Given the description of an element on the screen output the (x, y) to click on. 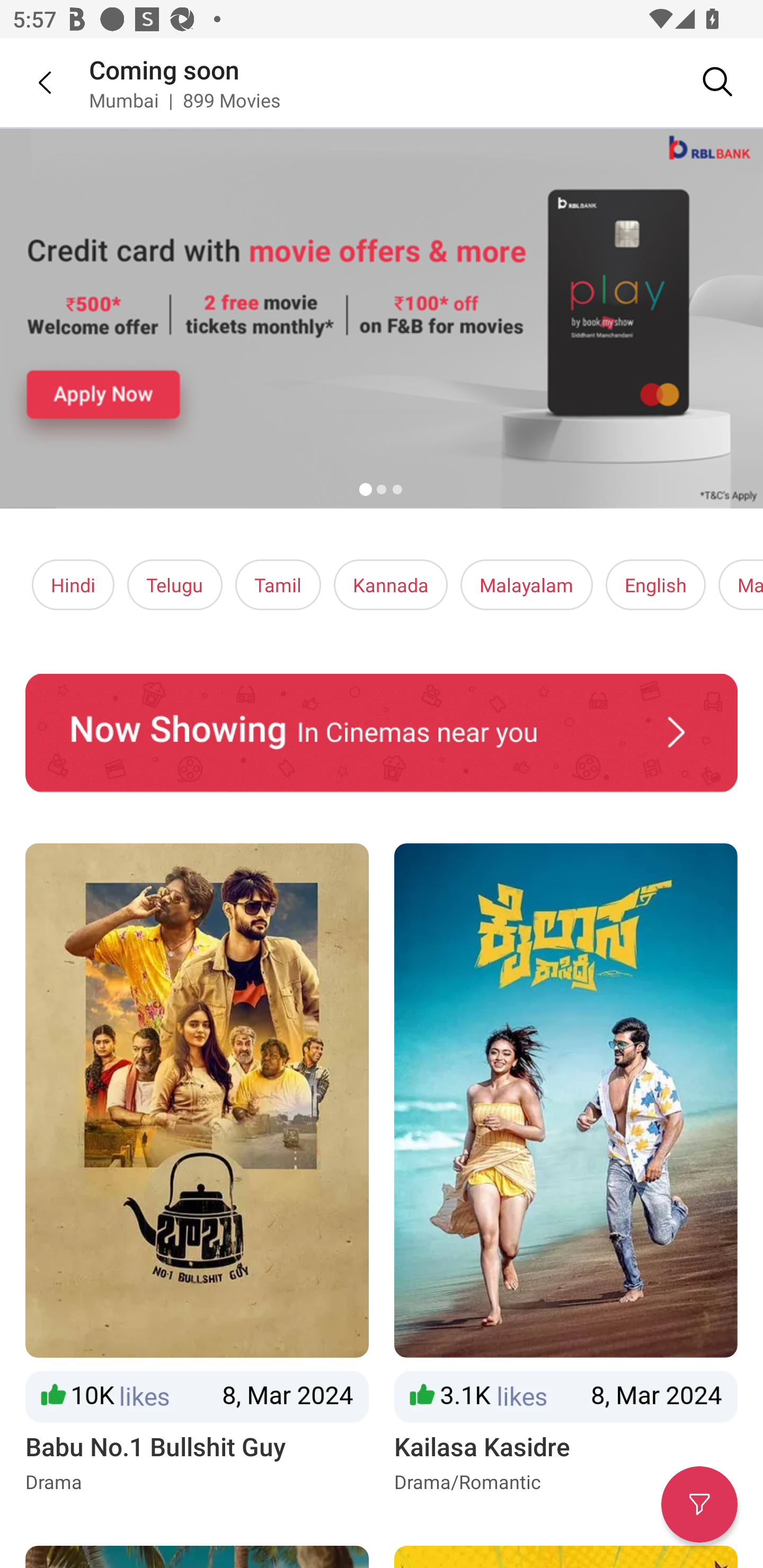
Back (31, 82)
Coming soon (164, 68)
Mumbai  |  899 Movies (184, 99)
Hindi (73, 584)
Telugu (174, 584)
Tamil (278, 584)
Kannada (390, 584)
Malayalam (526, 584)
English (655, 584)
Babu No.1 Bullshit Guy Drama (196, 1168)
Kailasa Kasidre Drama/Romantic (565, 1168)
Filter (699, 1504)
